Given the description of an element on the screen output the (x, y) to click on. 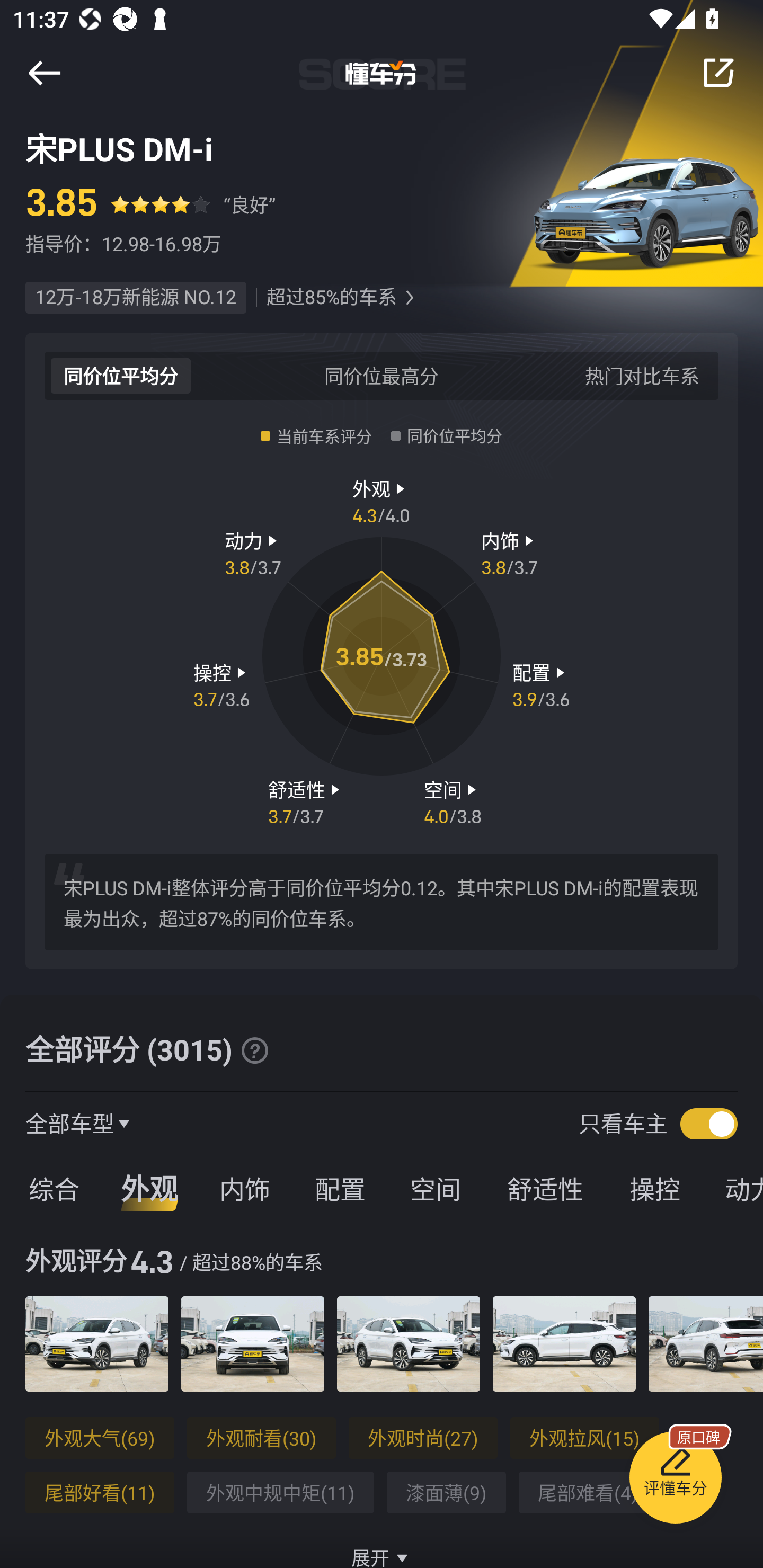
 (44, 72)
 (718, 72)
超过85%的车系 (331, 297)
 (408, 297)
同价位平均分 (120, 375)
同价位最高分 (381, 375)
热门对比车系 (641, 375)
外观  4.3 / 4.0 (381, 500)
动力  3.8 / 3.7 (252, 552)
内饰  3.8 / 3.7 (509, 552)
操控  3.7 / 3.6 (221, 685)
配置  3.9 / 3.6 (540, 685)
舒适性  3.7 / 3.7 (305, 801)
空间  4.0 / 3.8 (452, 801)
 (254, 1050)
全部车型 (69, 1123)
综合 (50, 1188)
内饰 (244, 1188)
配置 (339, 1188)
空间 (434, 1188)
舒适性 (544, 1188)
操控 (654, 1188)
外观大气(69) (99, 1437)
外观耐看(30) (260, 1437)
外观时尚(27) (422, 1437)
外观拉风(15) (584, 1437)
 评懂车分 原口碑 (675, 1480)
尾部好看(11) (99, 1492)
外观中规中矩(11) (279, 1492)
漆面薄(9) (445, 1492)
尾部难看(4) (587, 1492)
展开  (381, 1546)
